Given the description of an element on the screen output the (x, y) to click on. 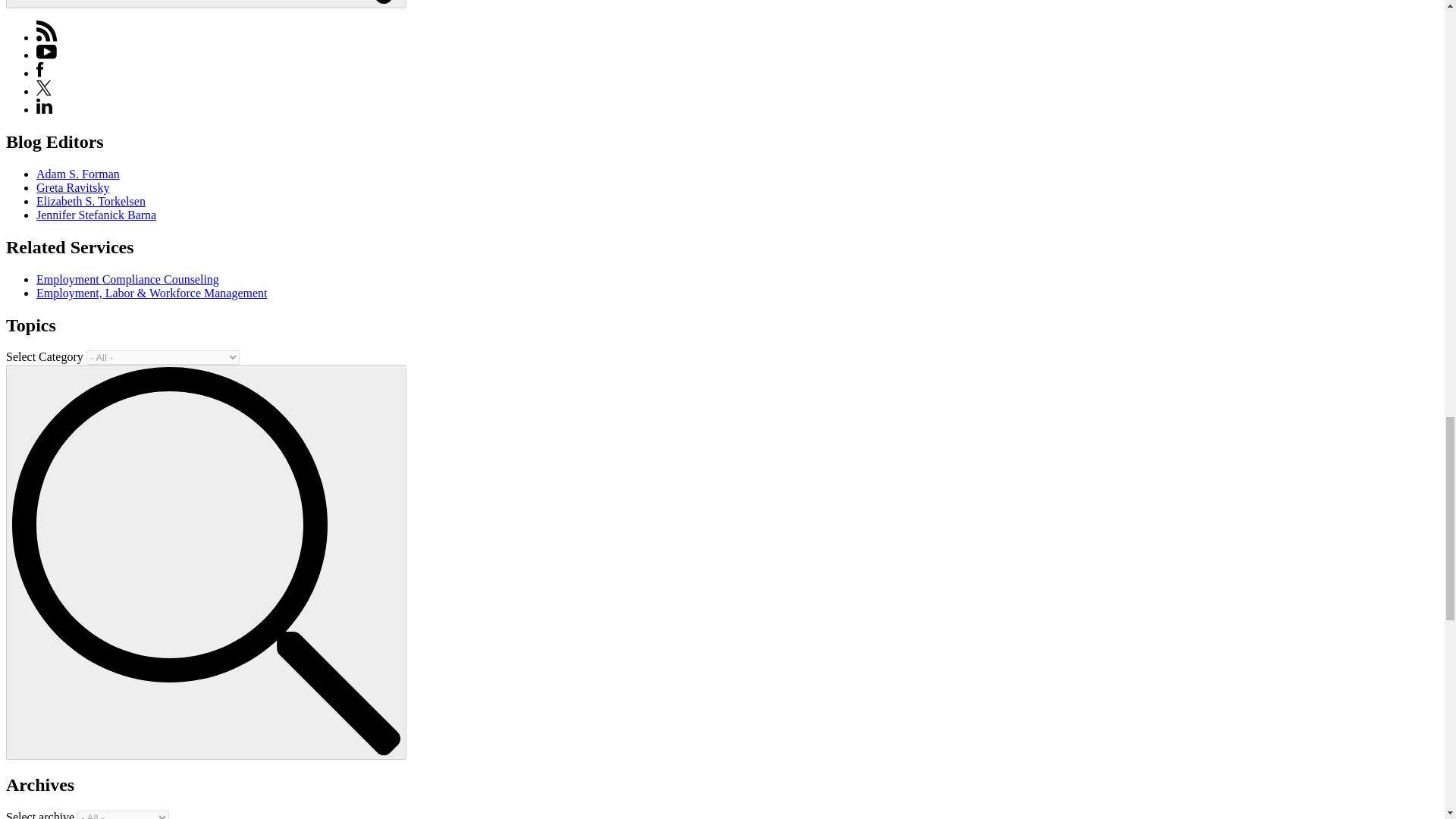
RSS (47, 30)
Youtube (46, 54)
Search (205, 4)
Linkedin (44, 105)
Jennifer Stefanick Barna (95, 214)
Linkedin (44, 109)
Twitter (43, 87)
Employment Compliance Counseling (127, 278)
Linkedin (44, 109)
Facebook (39, 69)
Elizabeth S. Torkelsen (90, 201)
Twitter (43, 91)
Facebook (39, 72)
